Given the description of an element on the screen output the (x, y) to click on. 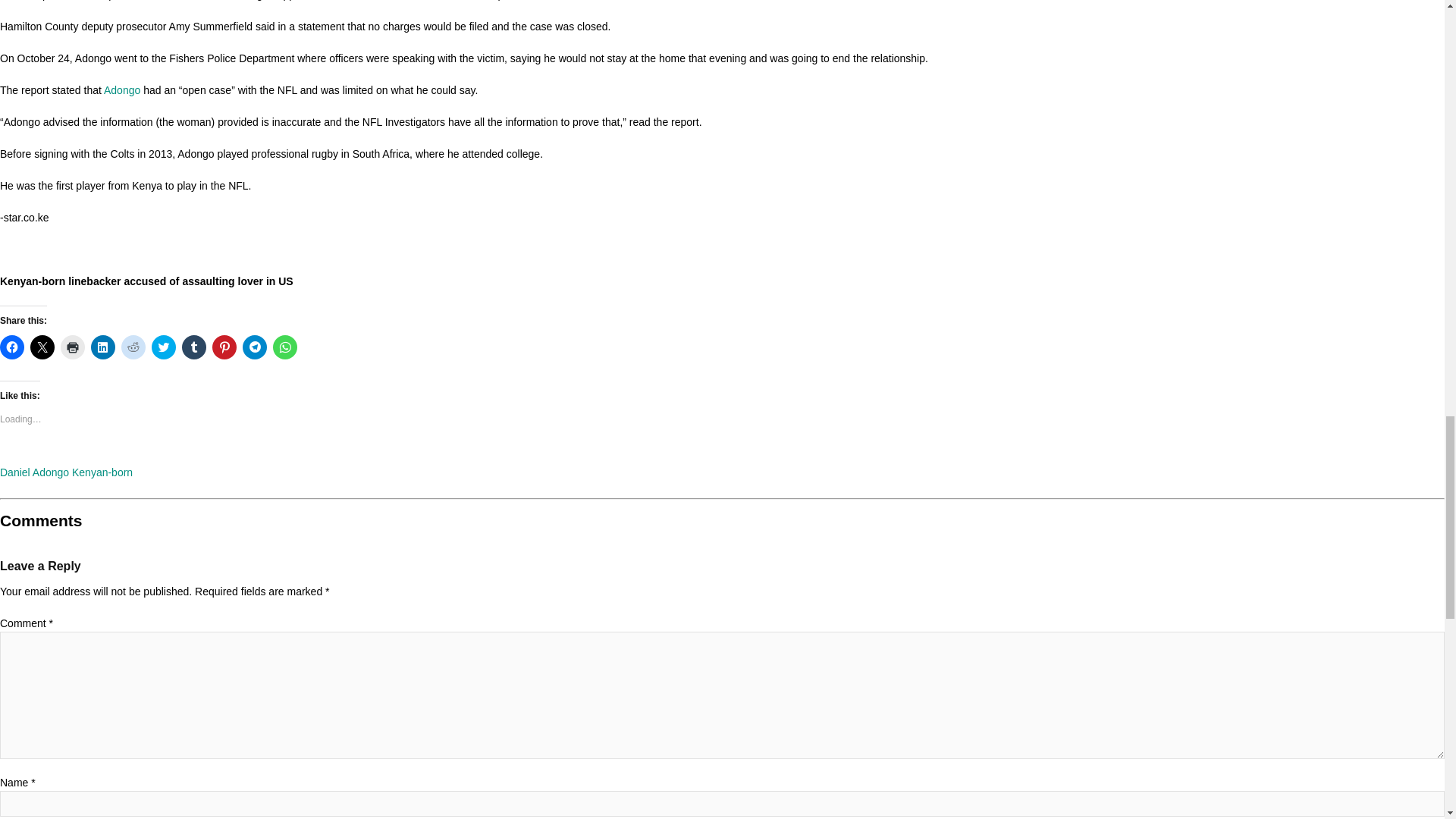
Click to share on X (42, 346)
Daniel Adongo (34, 472)
Click to print (72, 346)
Click to share on Tumblr (194, 346)
Click to share on Reddit (132, 346)
Click to share on Facebook (12, 346)
Kenyan-born (101, 472)
Adongo (121, 90)
Click to share on LinkedIn (102, 346)
Click to share on Twitter (163, 346)
